Given the description of an element on the screen output the (x, y) to click on. 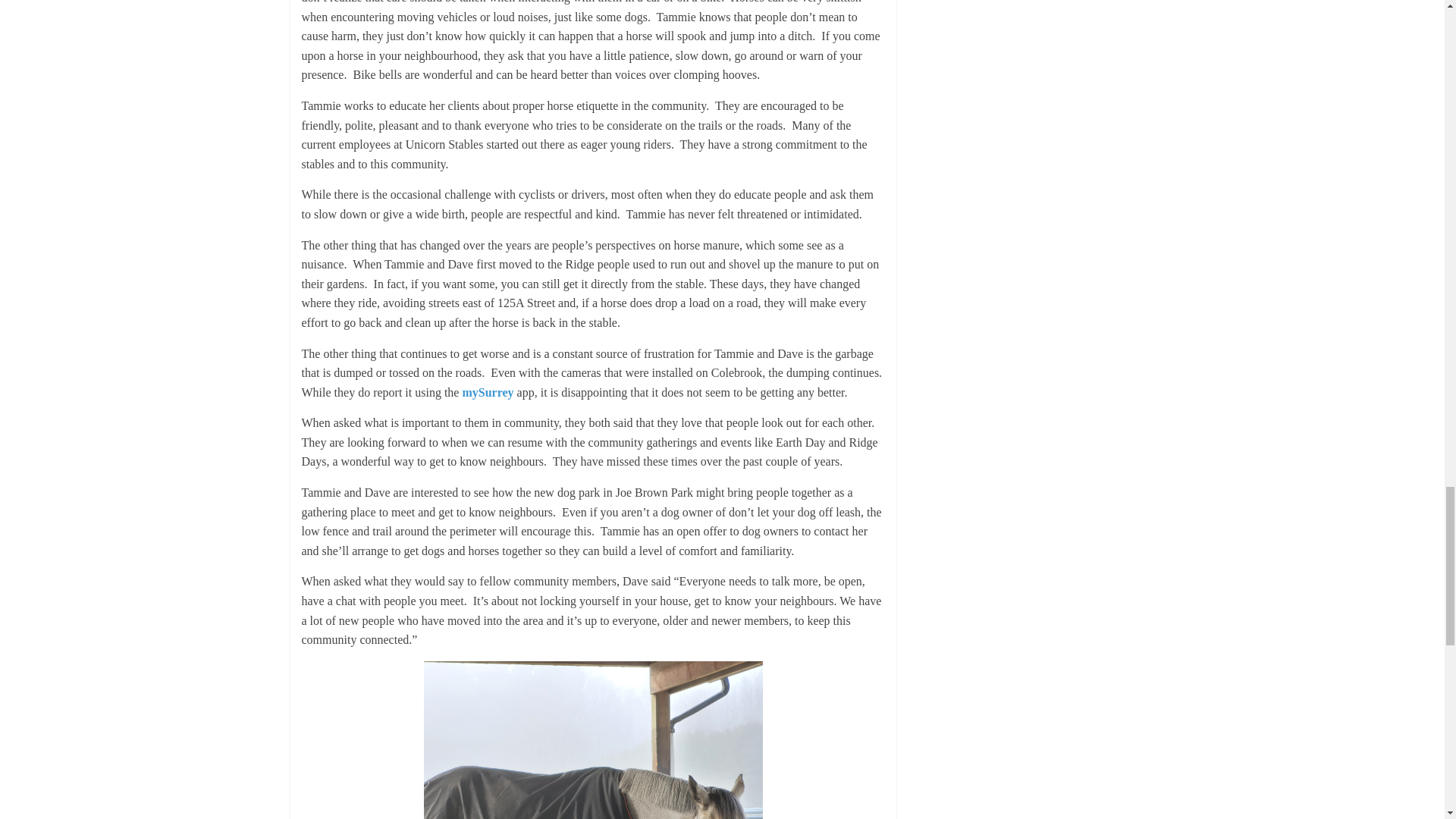
mySurrey (487, 391)
